Given the description of an element on the screen output the (x, y) to click on. 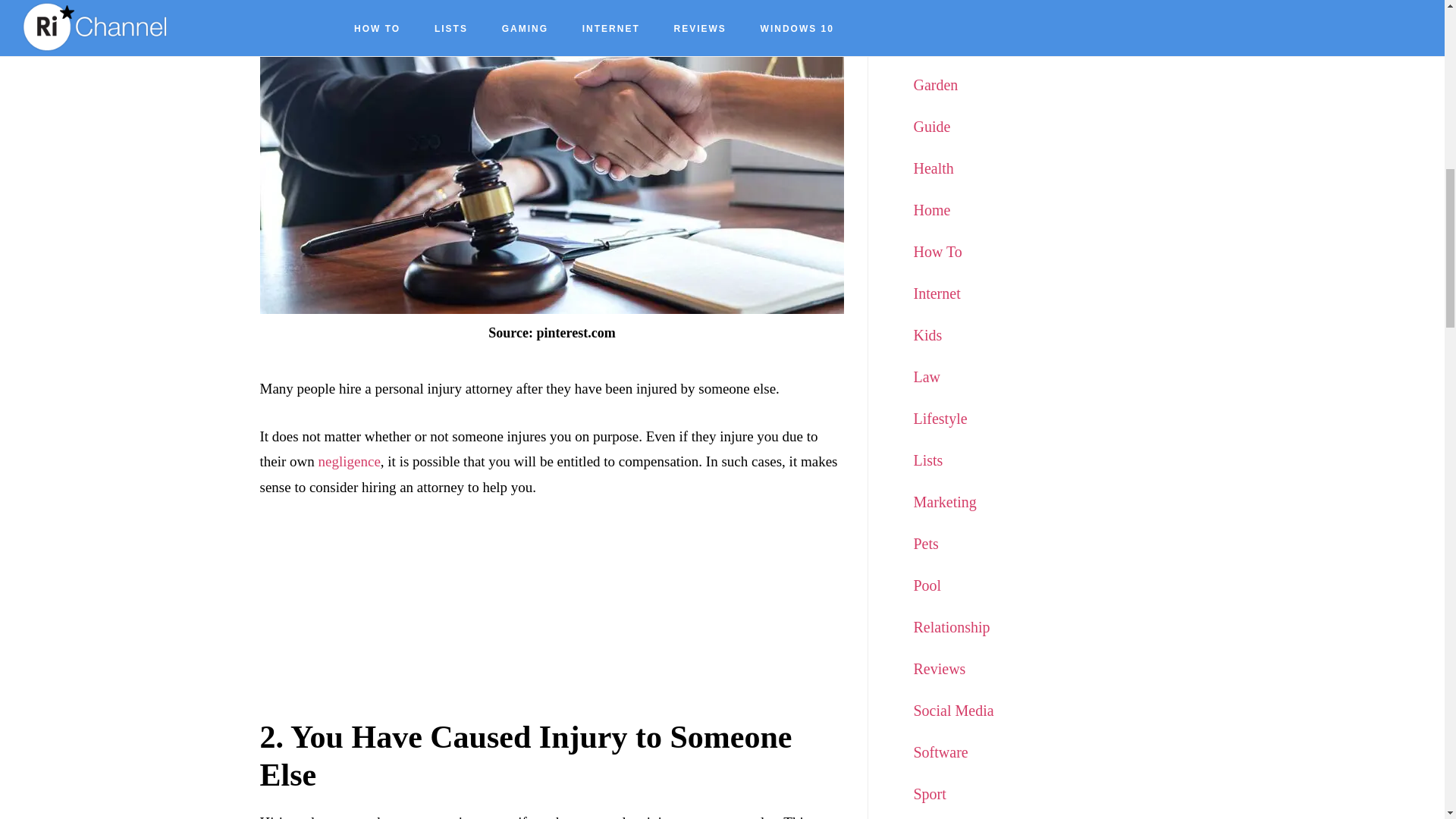
negligence (349, 461)
Gambling (943, 4)
Gaming (936, 43)
